Given the description of an element on the screen output the (x, y) to click on. 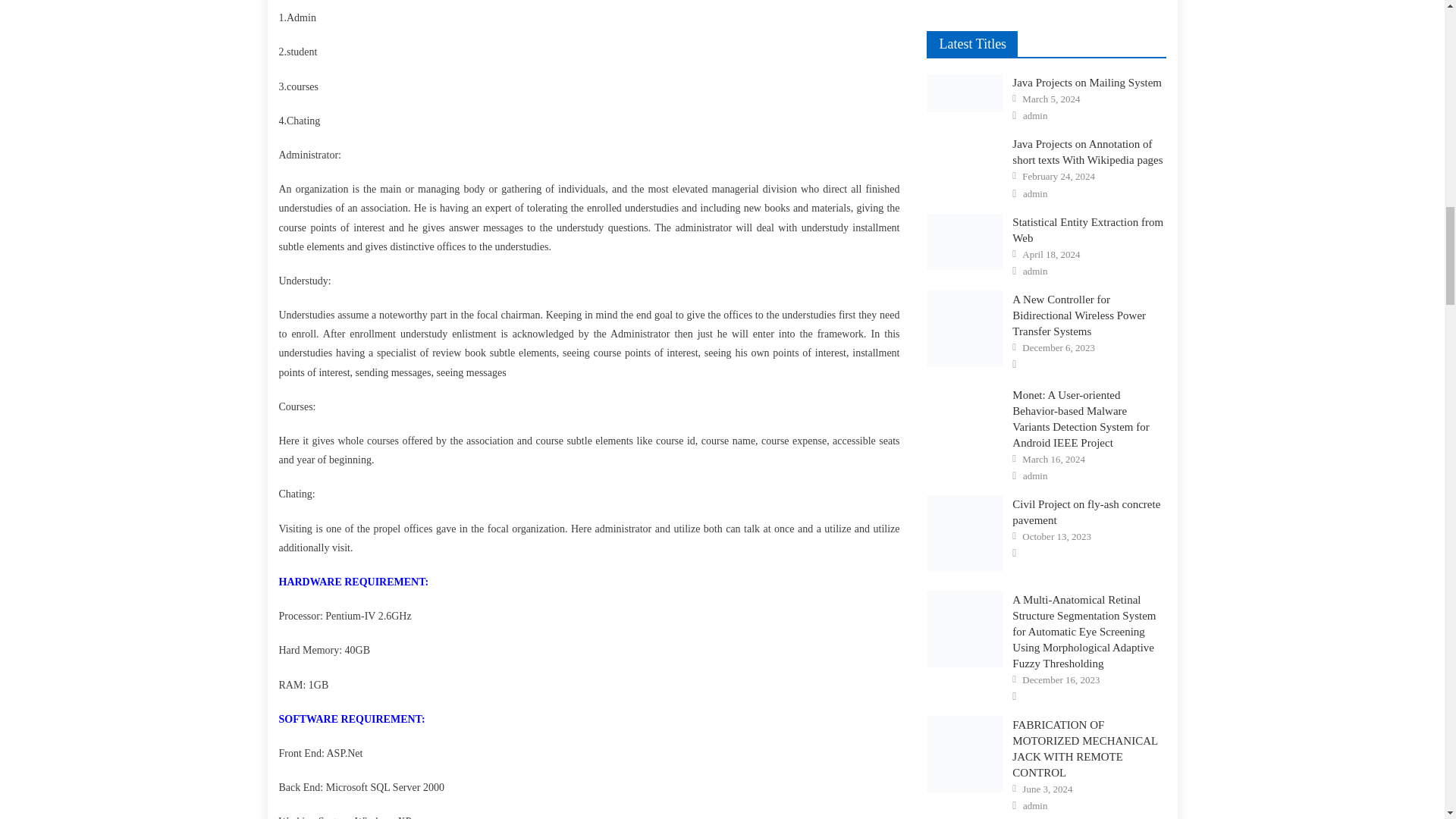
Statistical Entity Extraction from Web (964, 241)
Java Projects on Mailing System (964, 92)
Civil Project on fly-ash concrete pavement (964, 533)
